Given the description of an element on the screen output the (x, y) to click on. 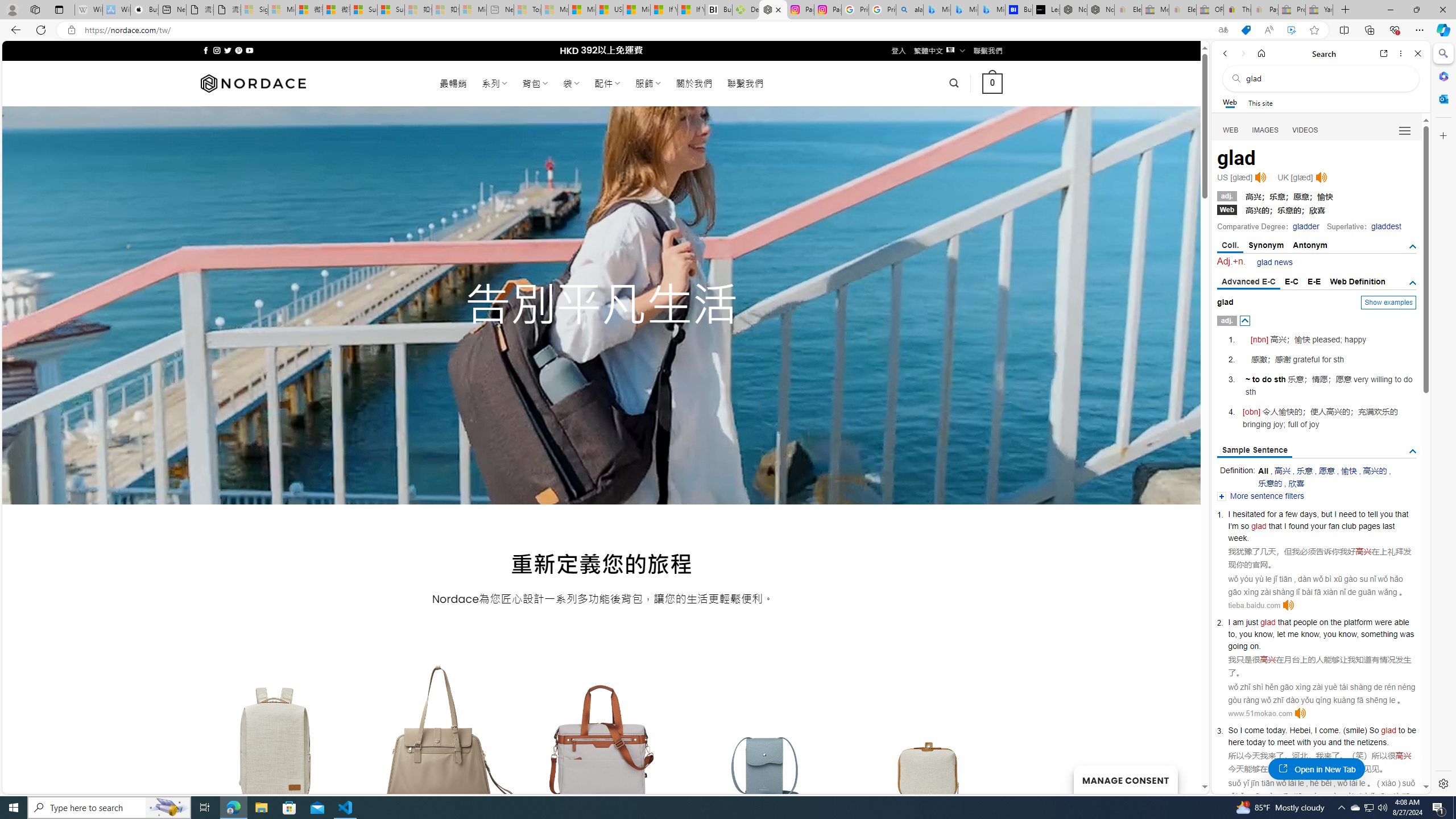
meet (1285, 741)
Press Room - eBay Inc. - Sleeping (1292, 9)
